Given the description of an element on the screen output the (x, y) to click on. 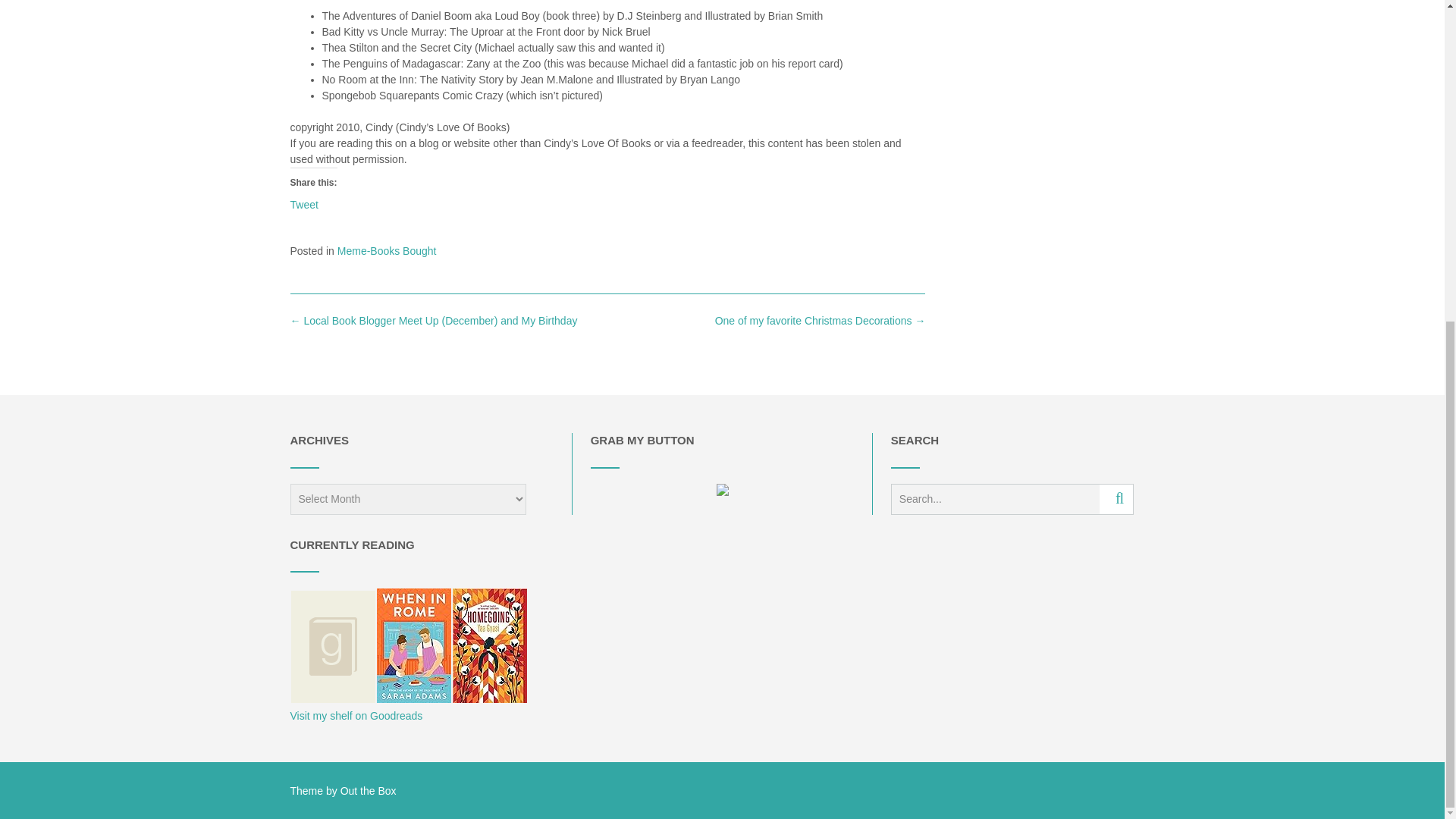
Meme-Books Bought (386, 250)
Search for: (995, 499)
Out the Box (368, 790)
Tweet (303, 203)
Visit my shelf on Goodreads (355, 715)
